Given the description of an element on the screen output the (x, y) to click on. 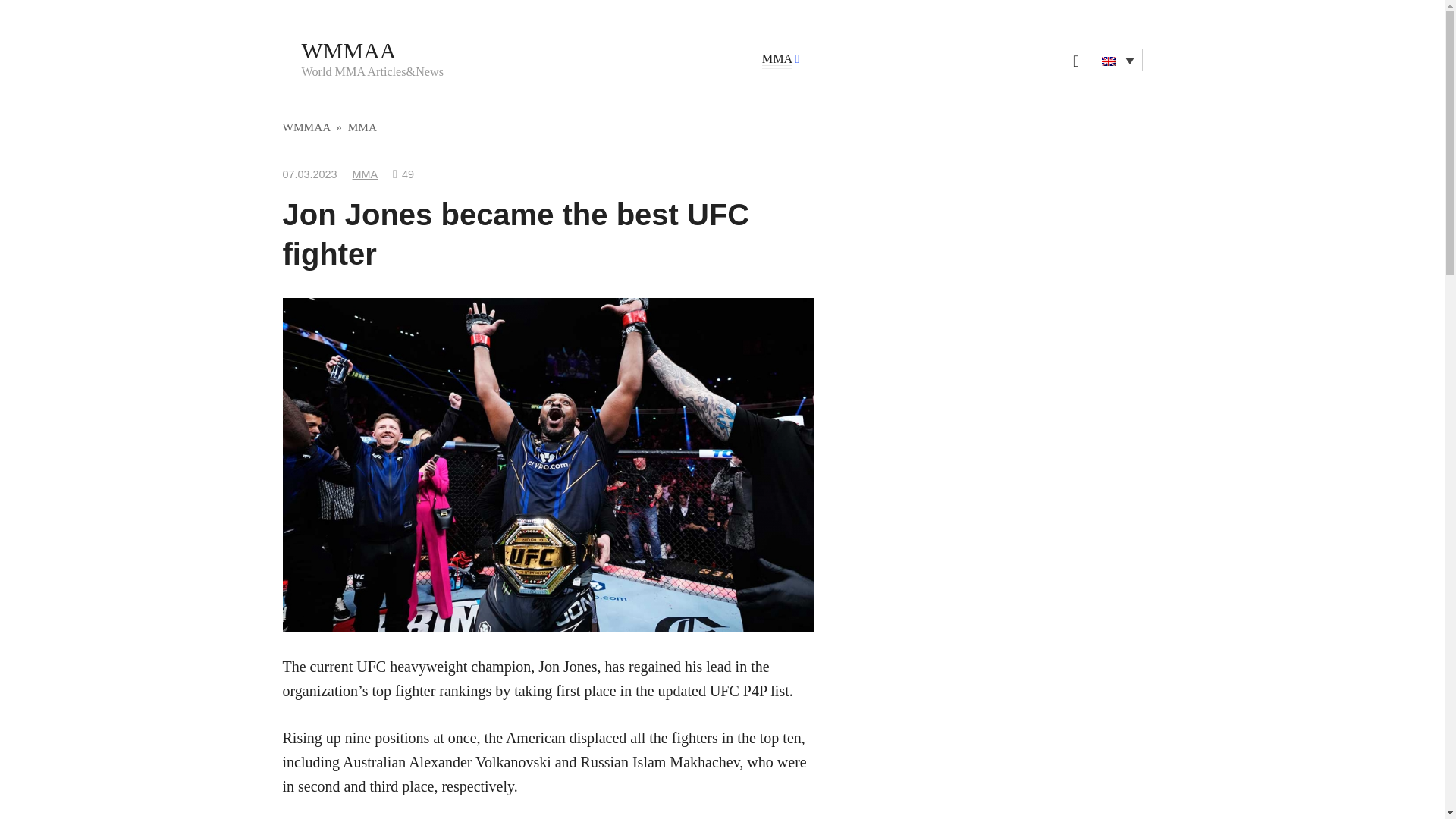
WMMAA (348, 50)
MMA (776, 59)
MMA (362, 126)
WMMAA (306, 126)
MMA (365, 174)
